Given the description of an element on the screen output the (x, y) to click on. 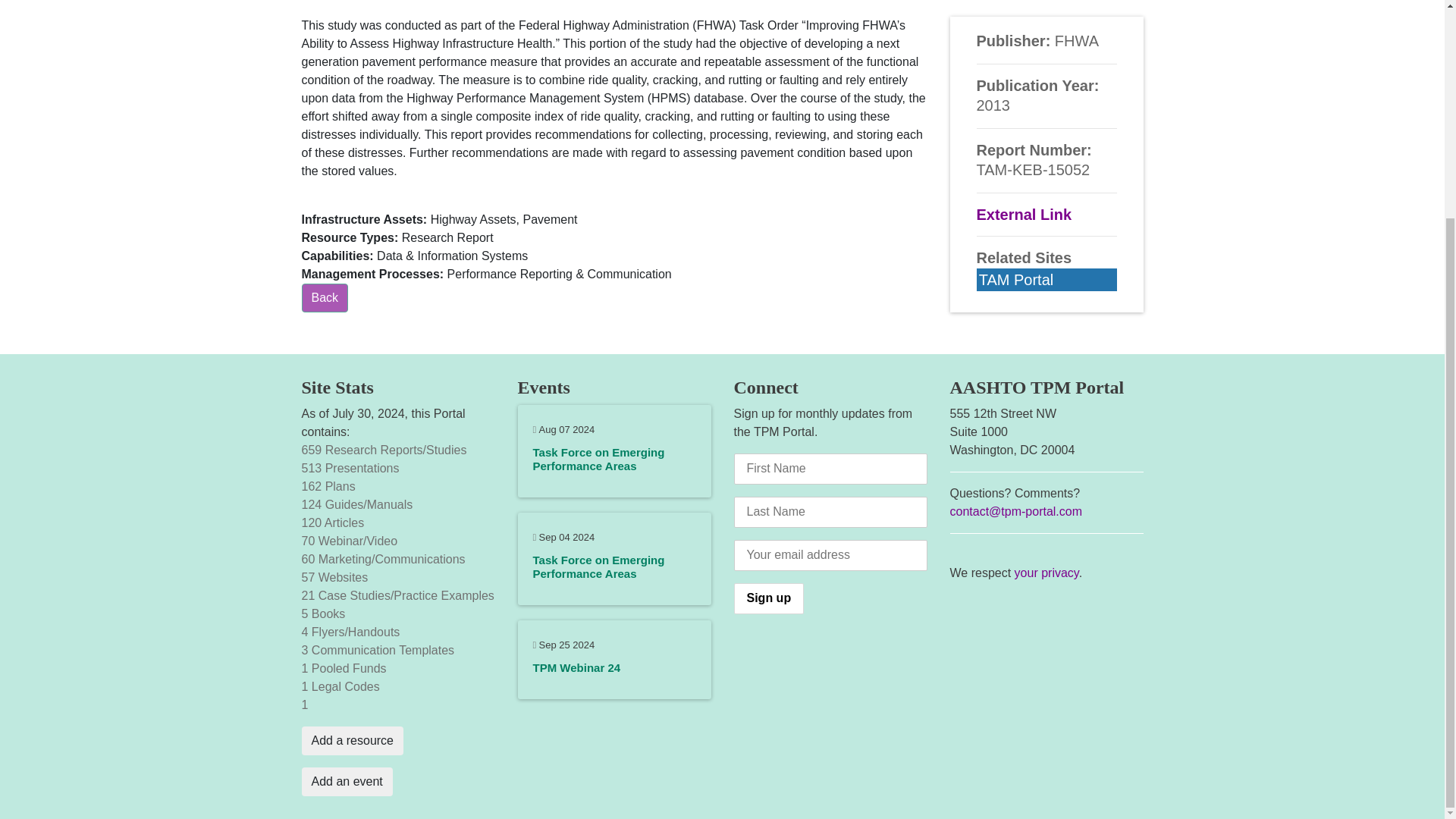
Back (325, 297)
Sign up (769, 598)
